Given the description of an element on the screen output the (x, y) to click on. 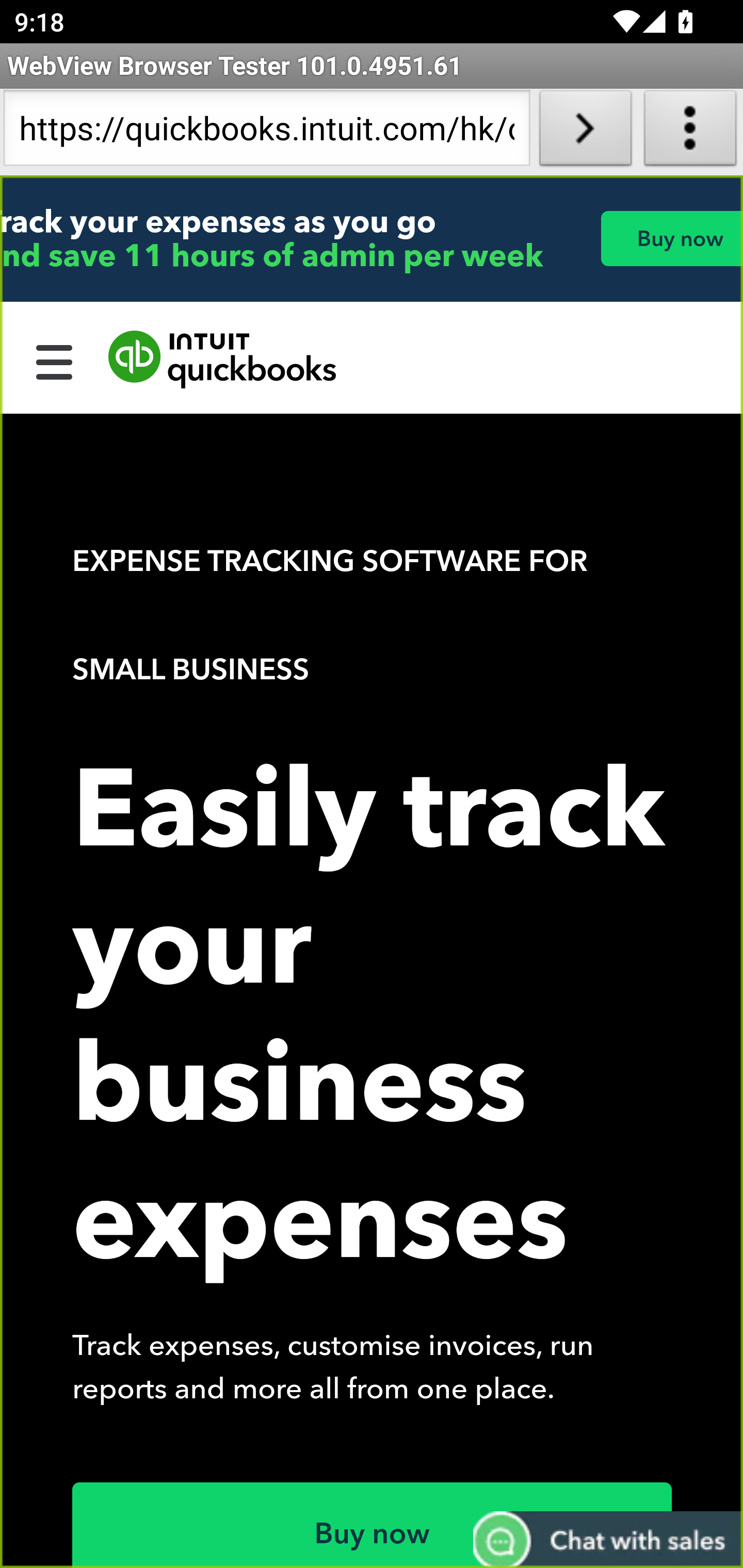
Load URL (585, 132)
About WebView (690, 132)
Buy now (671, 238)
quickbooks-mobile-burger (54, 359)
quickbooks (222, 359)
Buy now (372, 1524)
